Given the description of an element on the screen output the (x, y) to click on. 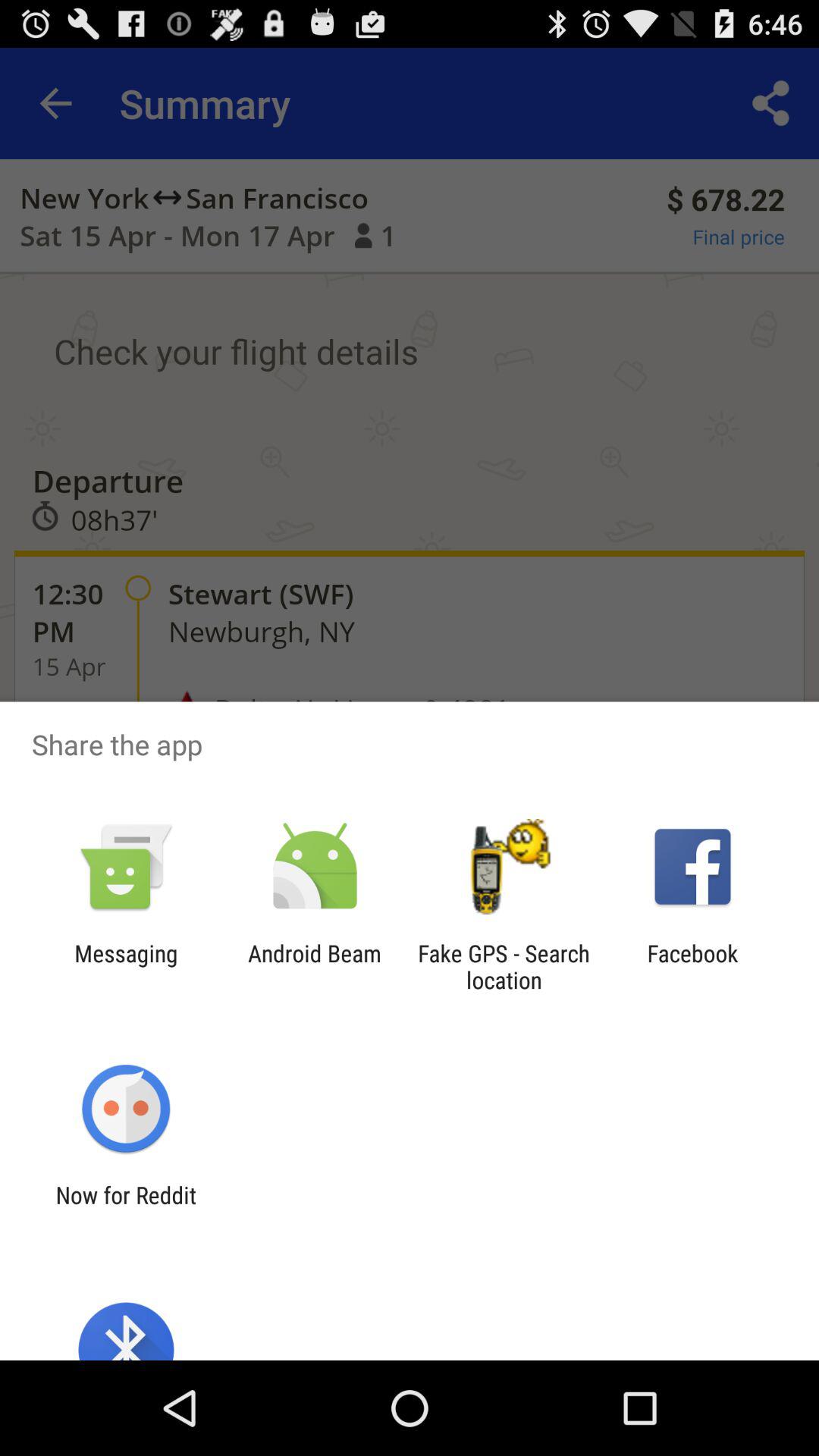
launch icon next to facebook (503, 966)
